Given the description of an element on the screen output the (x, y) to click on. 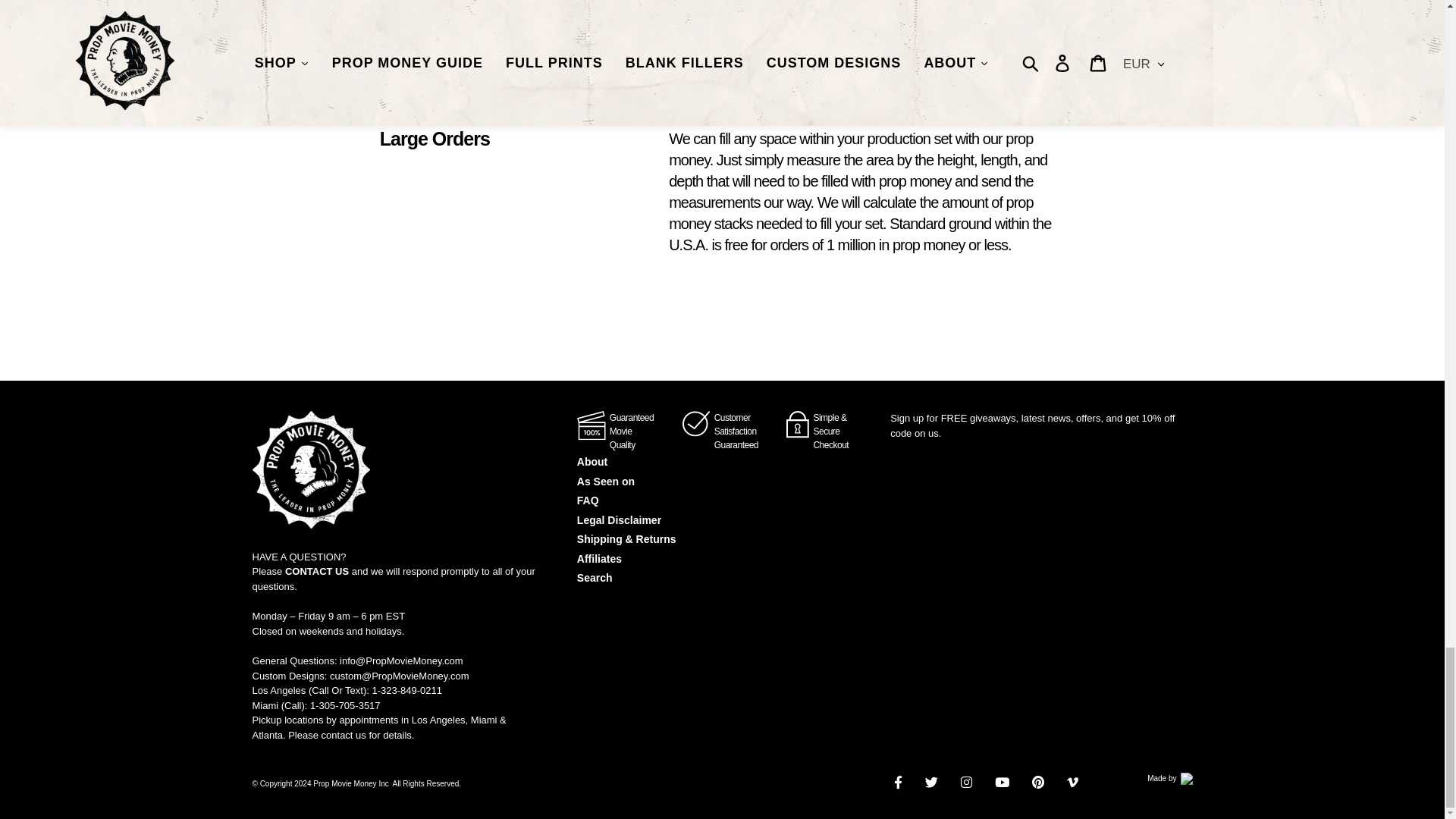
Have a question? (317, 571)
As Seen on (605, 480)
FAQ (587, 500)
About (591, 461)
Legal Disclaimer (618, 520)
CONTACT US (317, 571)
